Given the description of an element on the screen output the (x, y) to click on. 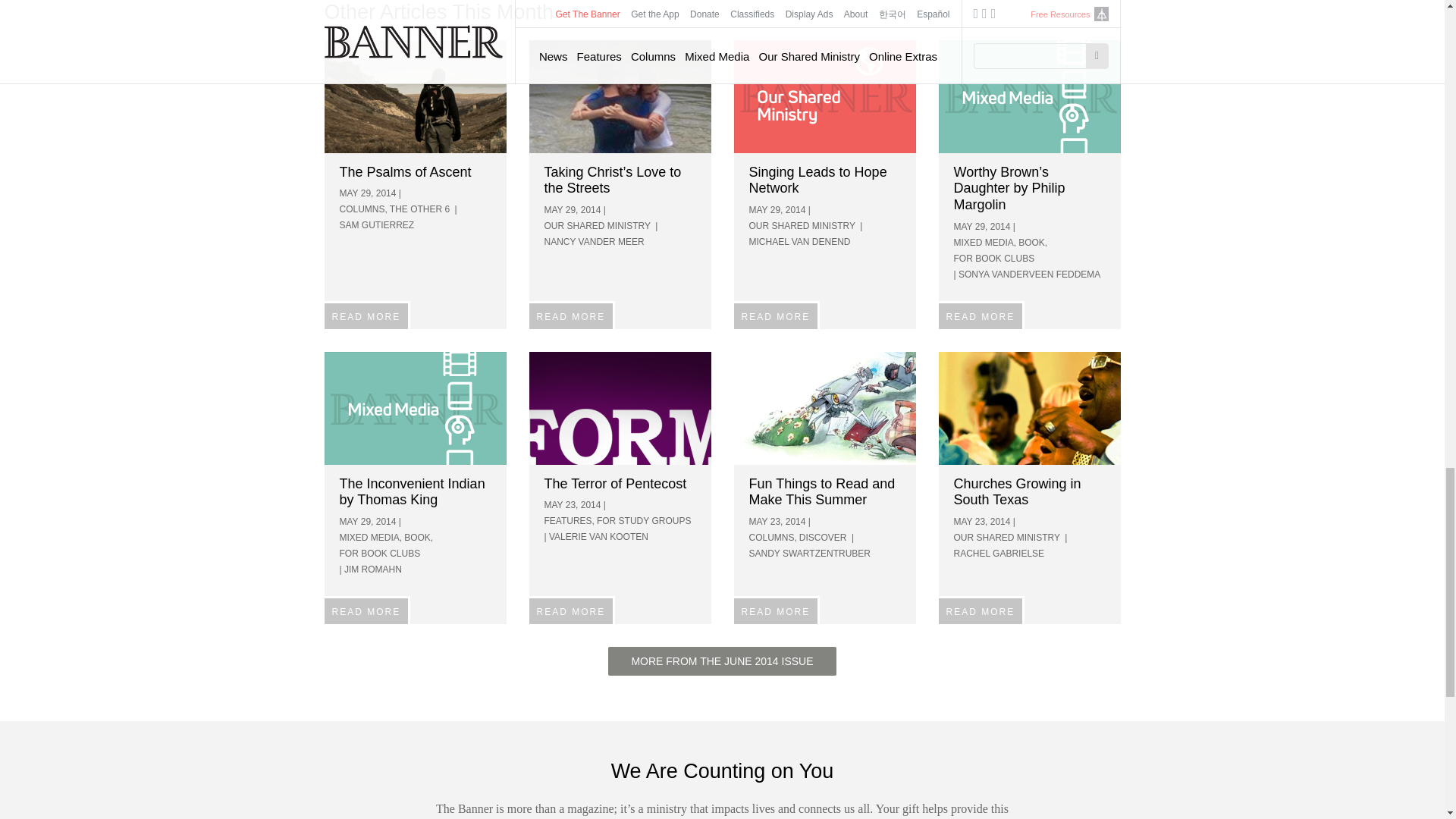
Mixed Media (415, 408)
Mixed Media (1030, 96)
